Given the description of an element on the screen output the (x, y) to click on. 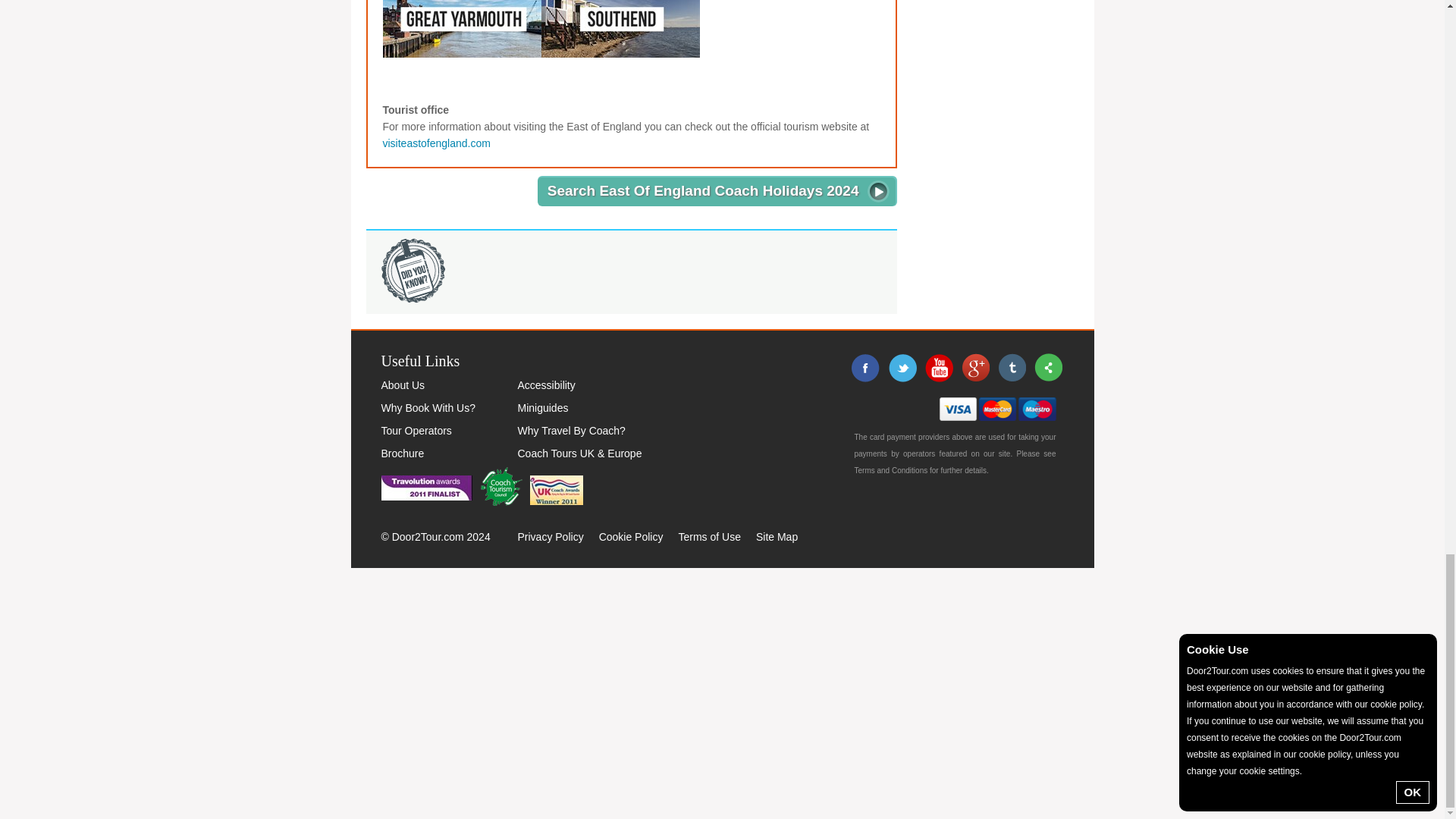
Search East of England Coach Holidays 2024 (716, 191)
Great Yarmouth coach holidays (460, 28)
Great Yarmouth (460, 19)
Search East of England Coach Holidays 2024 (716, 191)
